Given the description of an element on the screen output the (x, y) to click on. 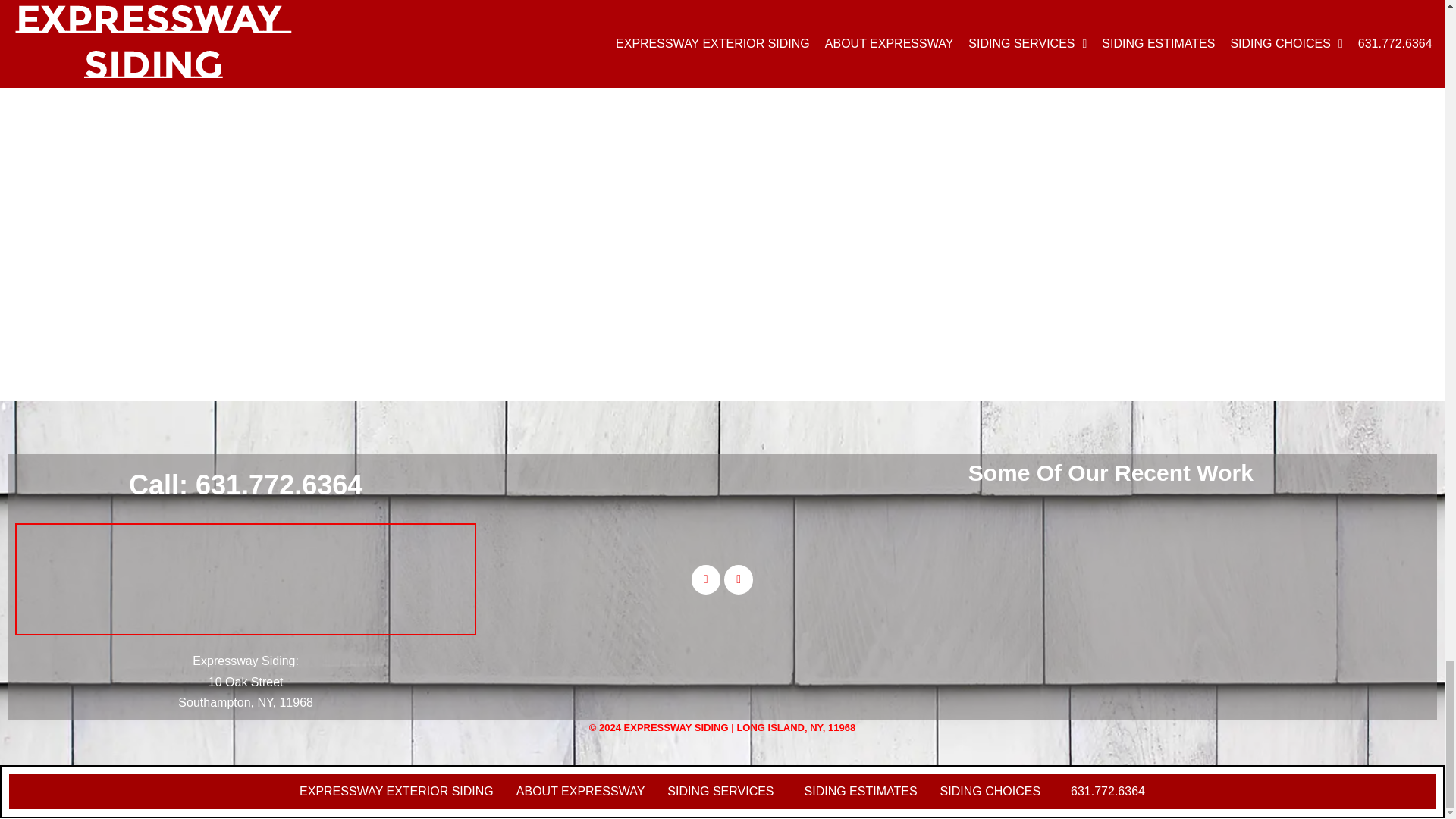
Long Island, NY (245, 578)
